Given the description of an element on the screen output the (x, y) to click on. 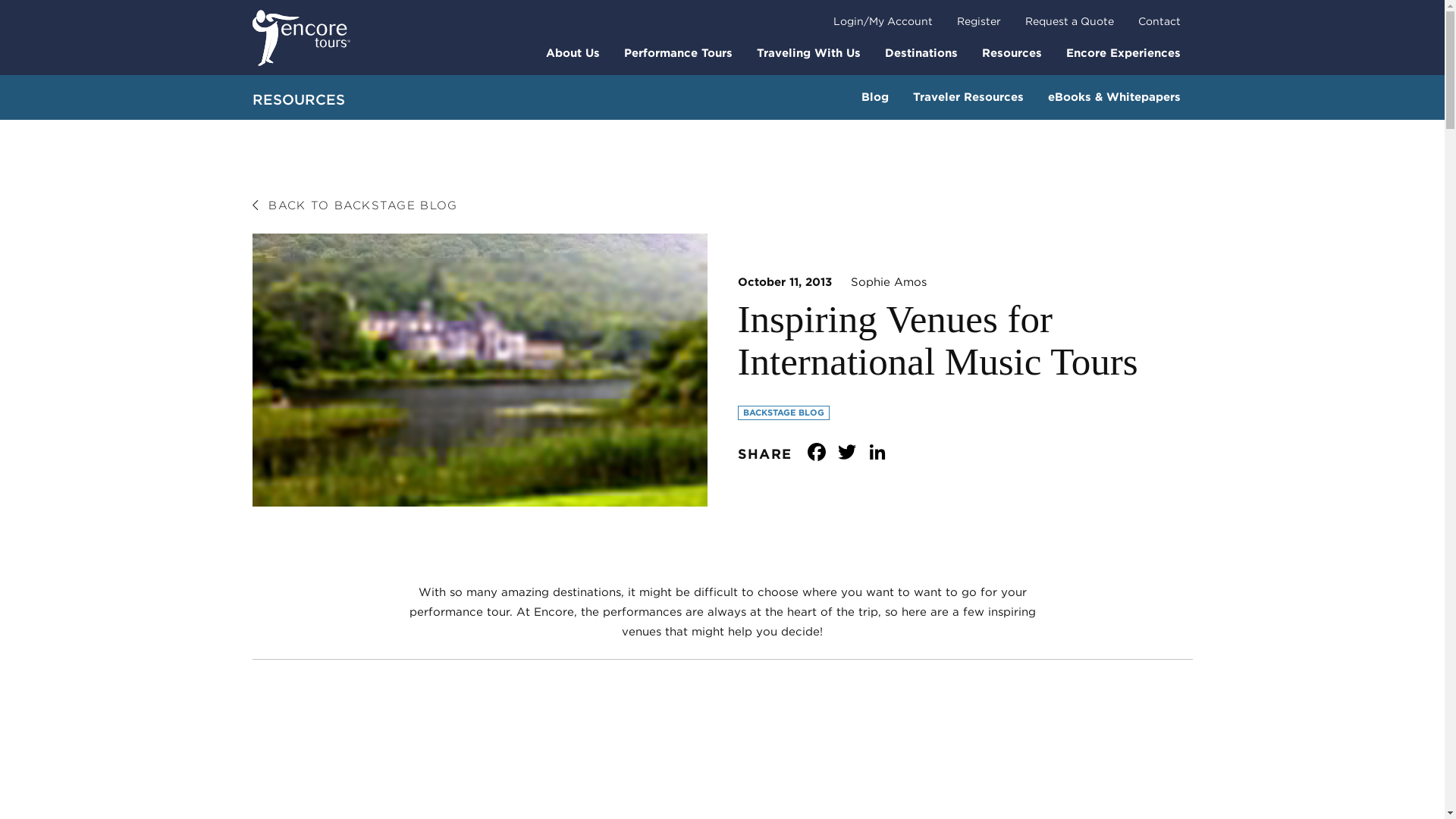
Performance Tours (677, 52)
Encore Experiences (1123, 52)
Traveling With Us (808, 52)
Request a Quote (1069, 20)
About Us (572, 52)
Contact (1158, 20)
Destinations (920, 52)
Resources (1010, 52)
Traveling With Us (808, 52)
Register (978, 20)
